Given the description of an element on the screen output the (x, y) to click on. 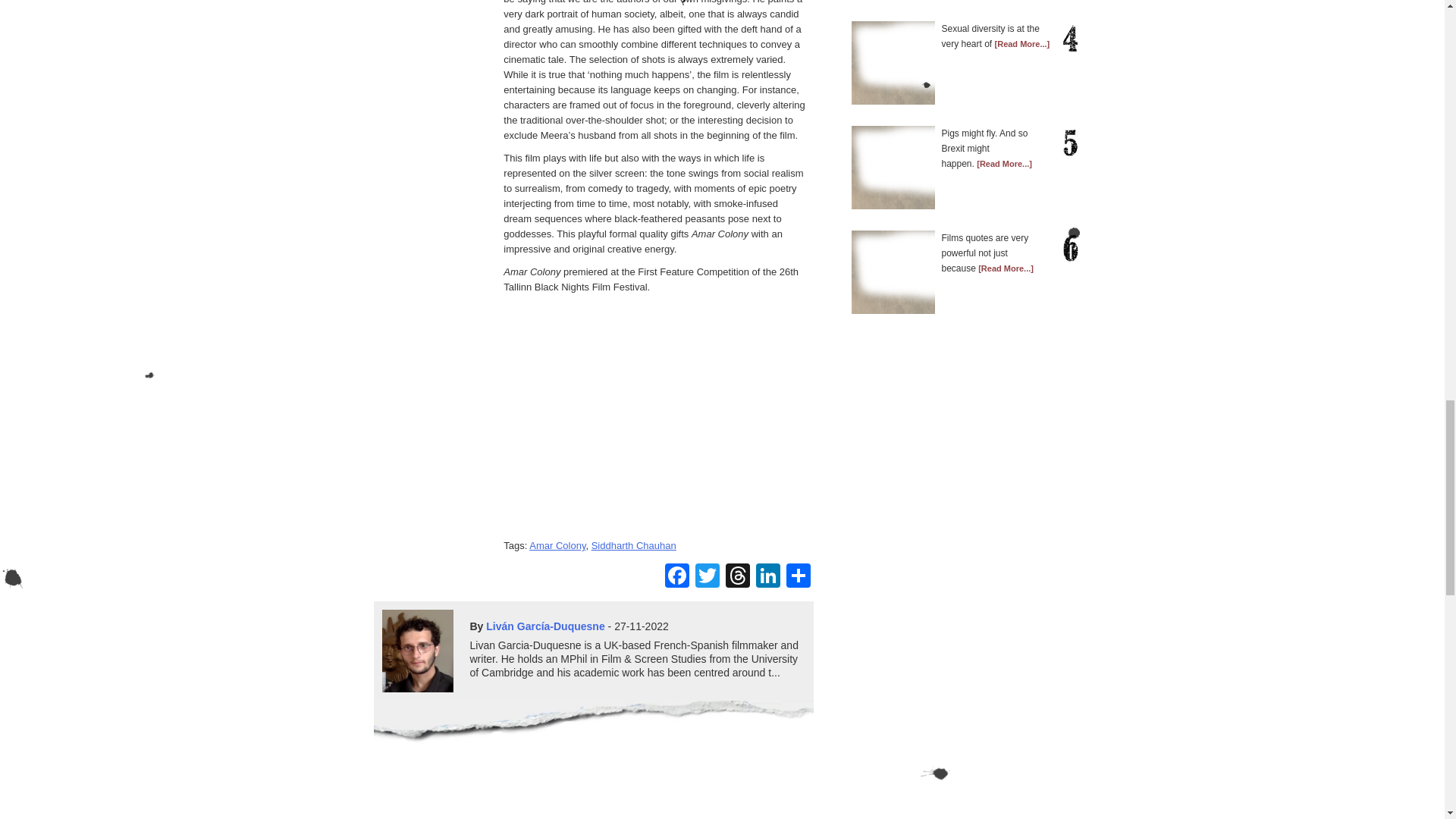
Siddharth Chauhan (634, 545)
Facebook (676, 577)
Threads (737, 577)
Threads (737, 577)
Twitter (706, 577)
LinkedIn (767, 577)
Facebook (676, 577)
LinkedIn (767, 577)
Twitter (706, 577)
Amar Colony (557, 545)
